Given the description of an element on the screen output the (x, y) to click on. 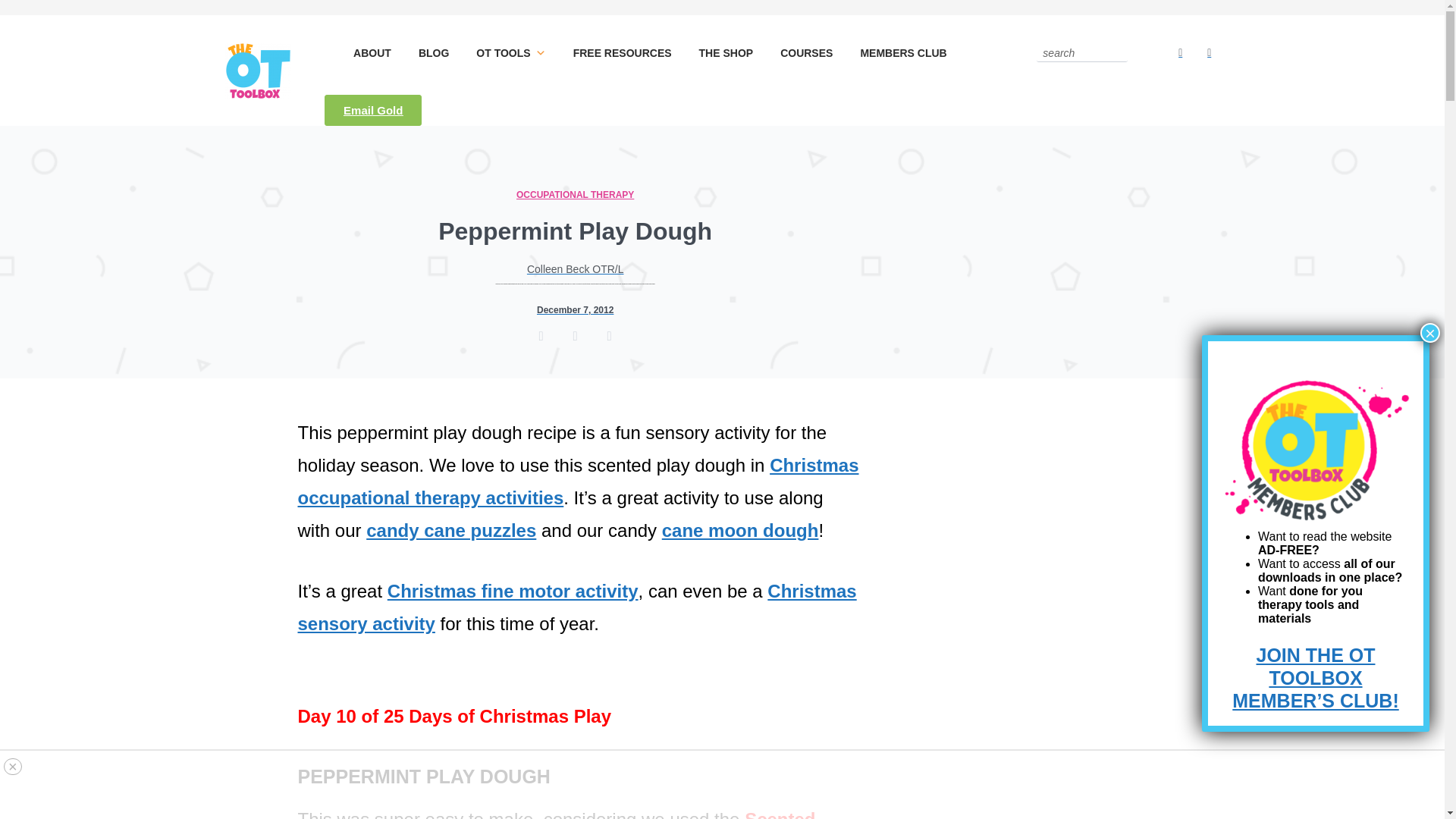
cropped-logo-2.png (258, 69)
OT TOOLS (510, 52)
